Given the description of an element on the screen output the (x, y) to click on. 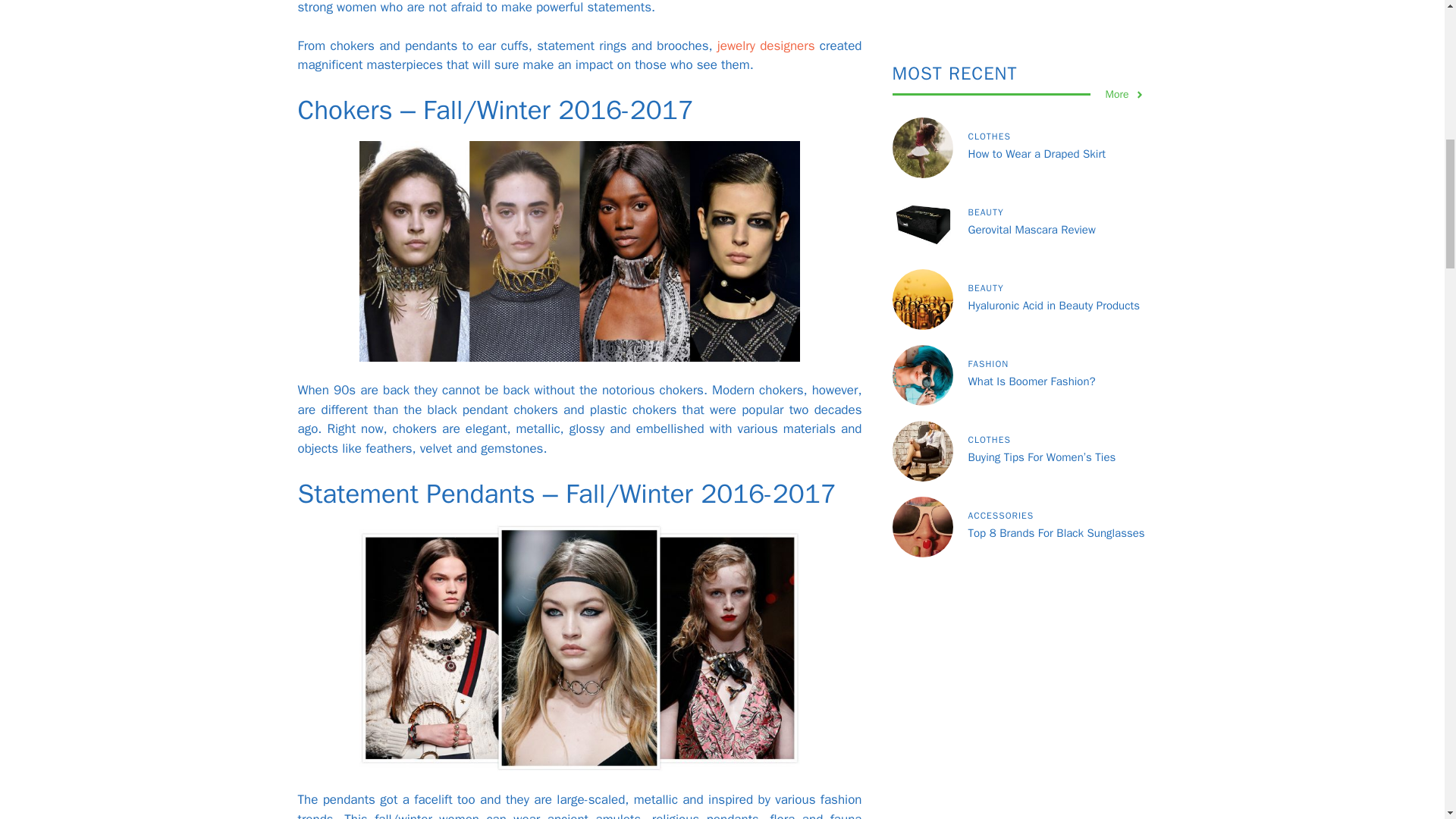
Hyaluronic Acid in Beauty Products (1053, 164)
Top 8 Brands For Black Sunglasses (1056, 391)
How to Wear a Draped Skirt (1036, 12)
Gerovital Mascara Review (1031, 88)
jewelry designers (766, 45)
What Is Boomer Fashion? (1031, 240)
